Given the description of an element on the screen output the (x, y) to click on. 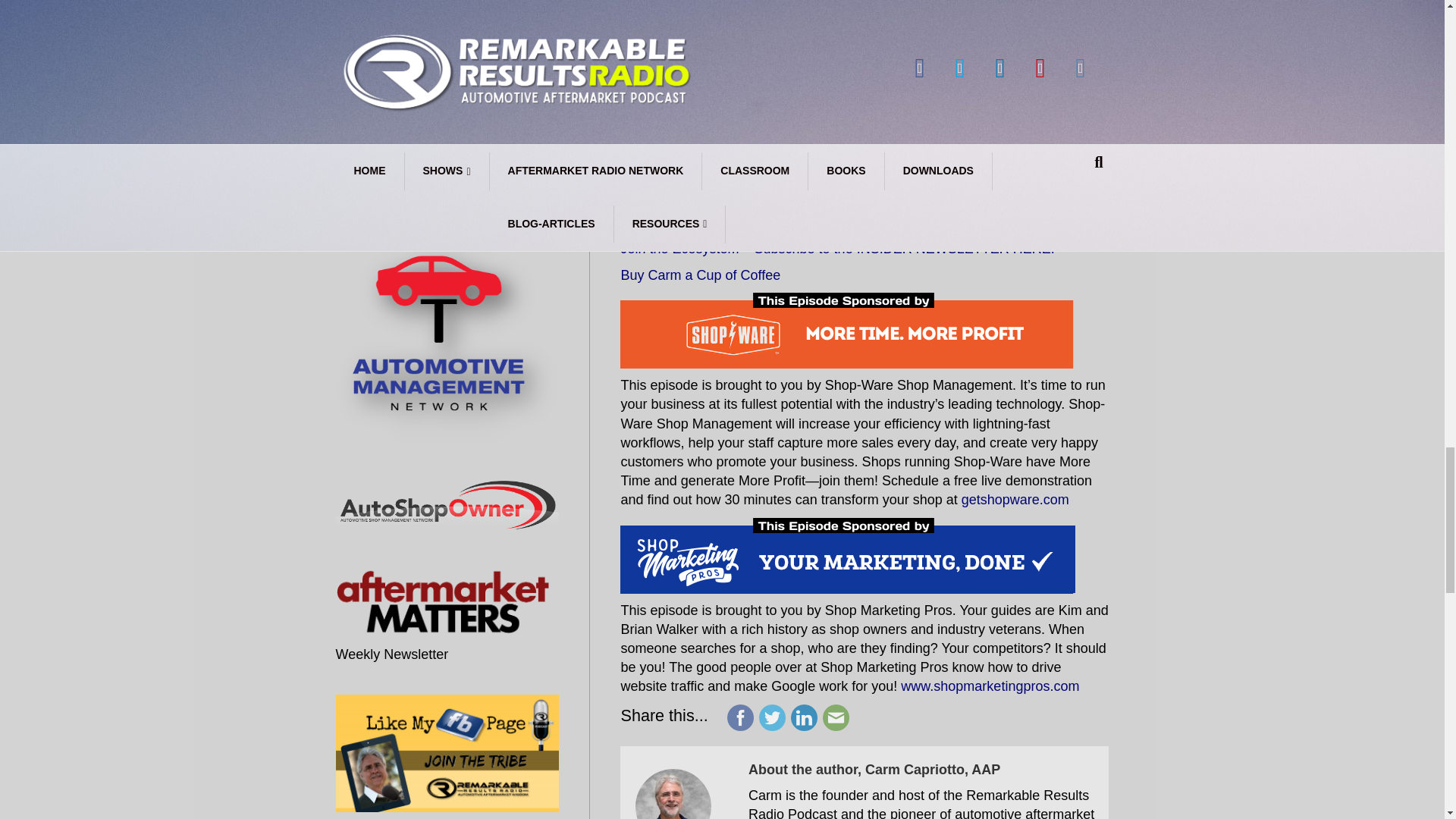
Pinterest (464, 192)
Twitter (393, 192)
Share via Facebook (740, 716)
Instagram (536, 192)
YouTube (501, 192)
LinkedIn (428, 192)
Facebook (357, 192)
